Given the description of an element on the screen output the (x, y) to click on. 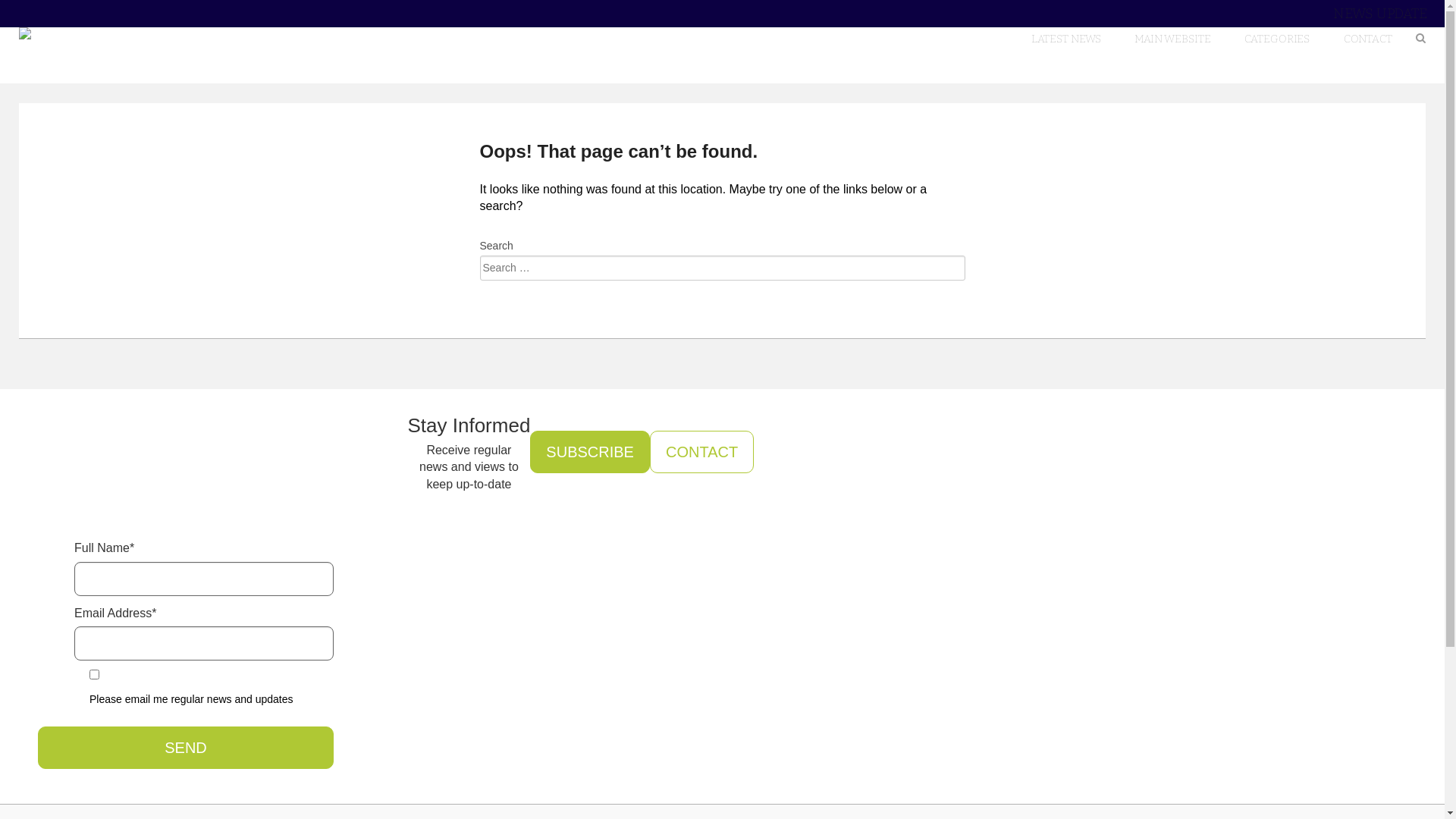
Search Element type: text (53, 27)
CONTACT Element type: text (701, 451)
CATEGORIES Element type: text (1276, 38)
CONTACT Element type: text (1367, 38)
LATEST NEWS Element type: text (1066, 38)
MAIN WEBSITE Element type: text (1172, 38)
Send Element type: text (185, 747)
Ezra Legal Element type: hover (113, 33)
SUBSCRIBE Element type: text (589, 451)
Skip to content Element type: text (1391, 26)
